Given the description of an element on the screen output the (x, y) to click on. 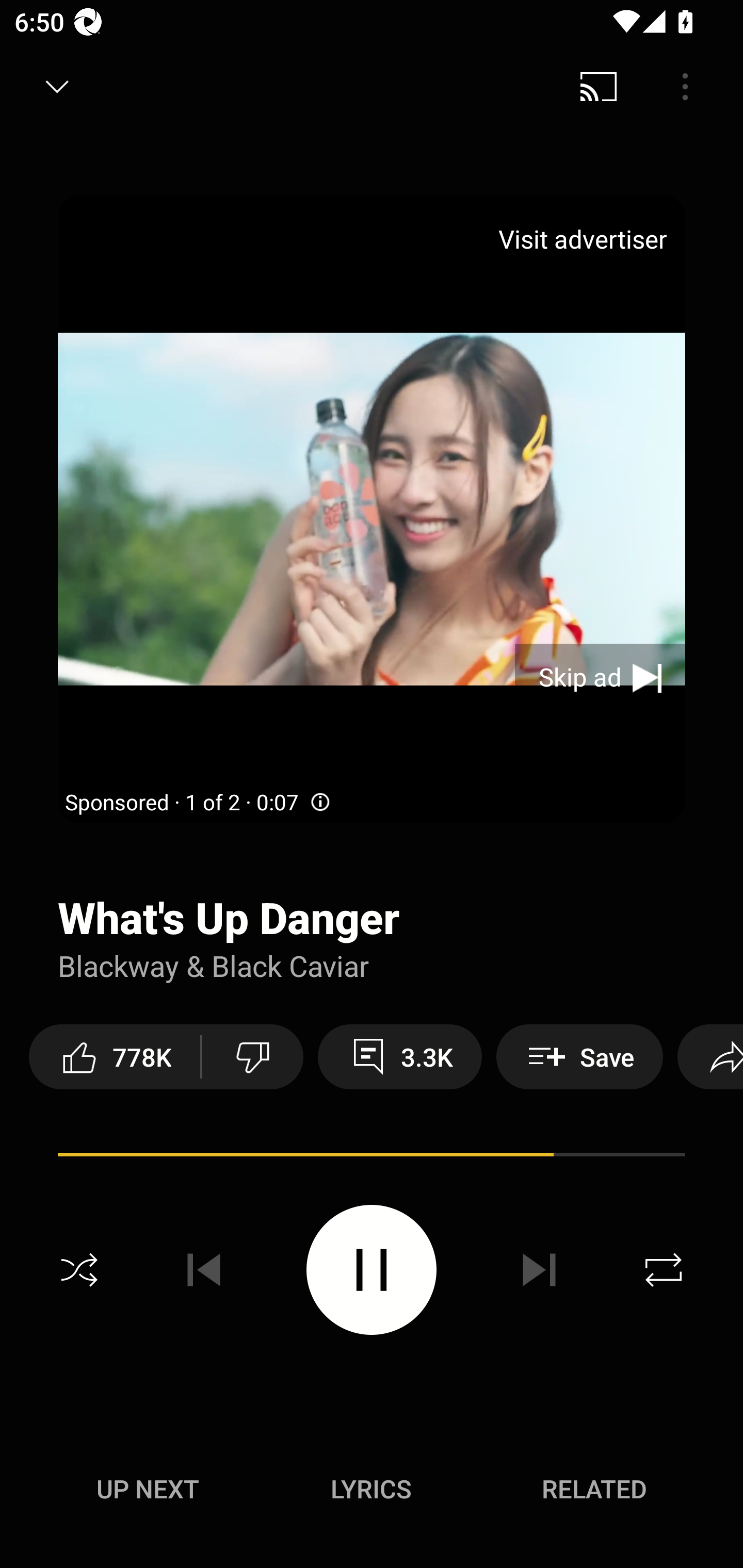
Minimize (57, 86)
Cast. Disconnected (598, 86)
Menu (684, 86)
Dislike (252, 1056)
3.3K View 3,333 comments (400, 1056)
Save Save to playlist (579, 1056)
Share (710, 1056)
Pause video (371, 1269)
Shuffle off (79, 1269)
Previous track disabled (203, 1269)
Next track disabled (538, 1269)
Repeat off (663, 1269)
Up next UP NEXT Lyrics LYRICS Related RELATED (371, 1491)
Lyrics LYRICS (370, 1488)
Related RELATED (594, 1488)
